Given the description of an element on the screen output the (x, y) to click on. 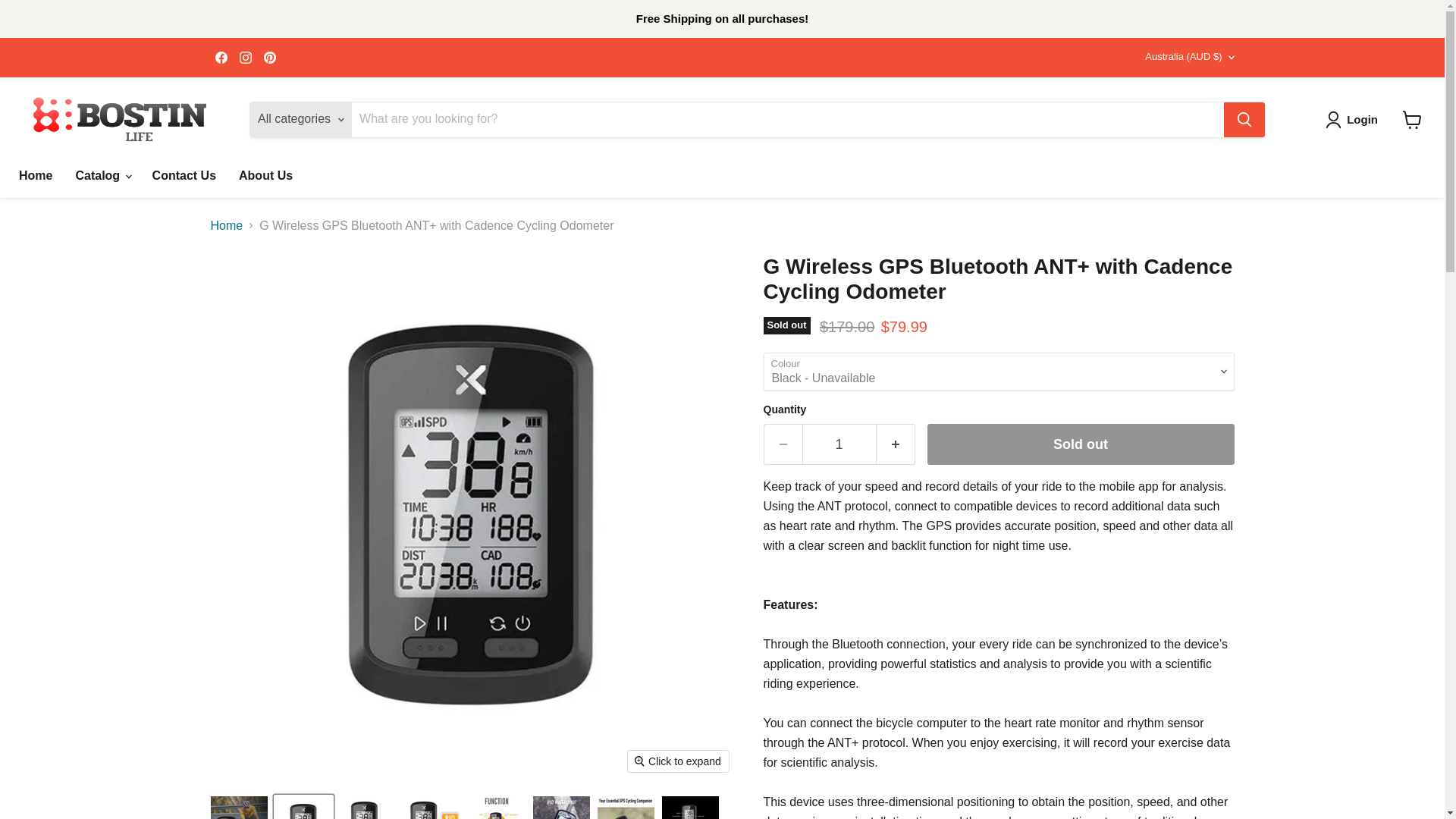
Instagram (245, 56)
Find us on Facebook (221, 56)
Login (1354, 119)
Pinterest (270, 56)
1 (839, 444)
Find us on Pinterest (270, 56)
Facebook (221, 56)
Home (35, 174)
View cart (1411, 119)
Find us on Instagram (245, 56)
